Given the description of an element on the screen output the (x, y) to click on. 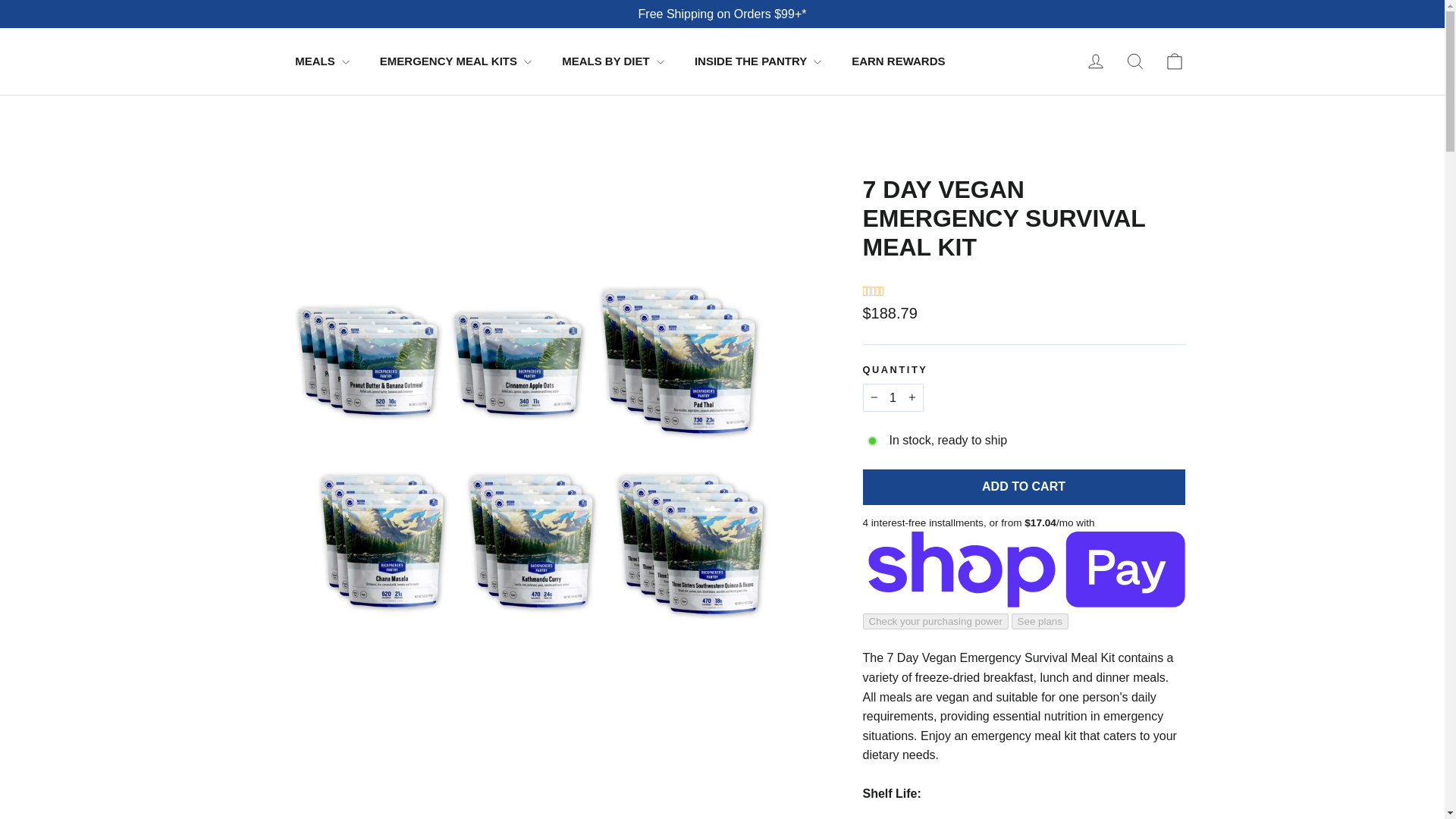
ICON-BAG-MINIMAL (1174, 61)
1 (893, 398)
ICON-SEARCH (1134, 61)
ACCOUNT (1094, 61)
